Given the description of an element on the screen output the (x, y) to click on. 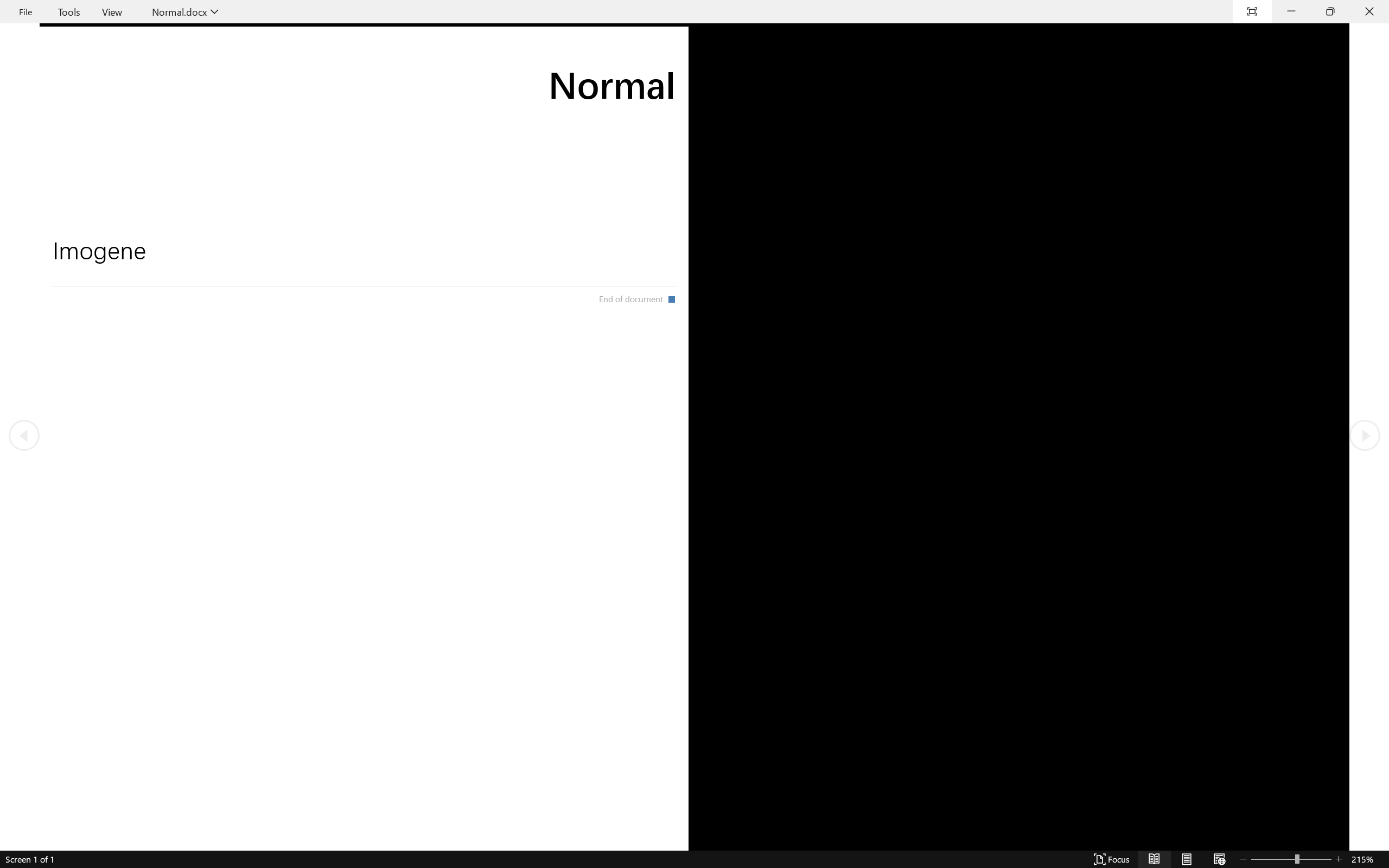
Decrease Indent (380, 52)
Connector: Elbow (539, 60)
Align Left (333, 71)
Shape Fill Orange, Accent 2 (644, 46)
Shape Outline (669, 60)
Italic (186, 71)
